Given the description of an element on the screen output the (x, y) to click on. 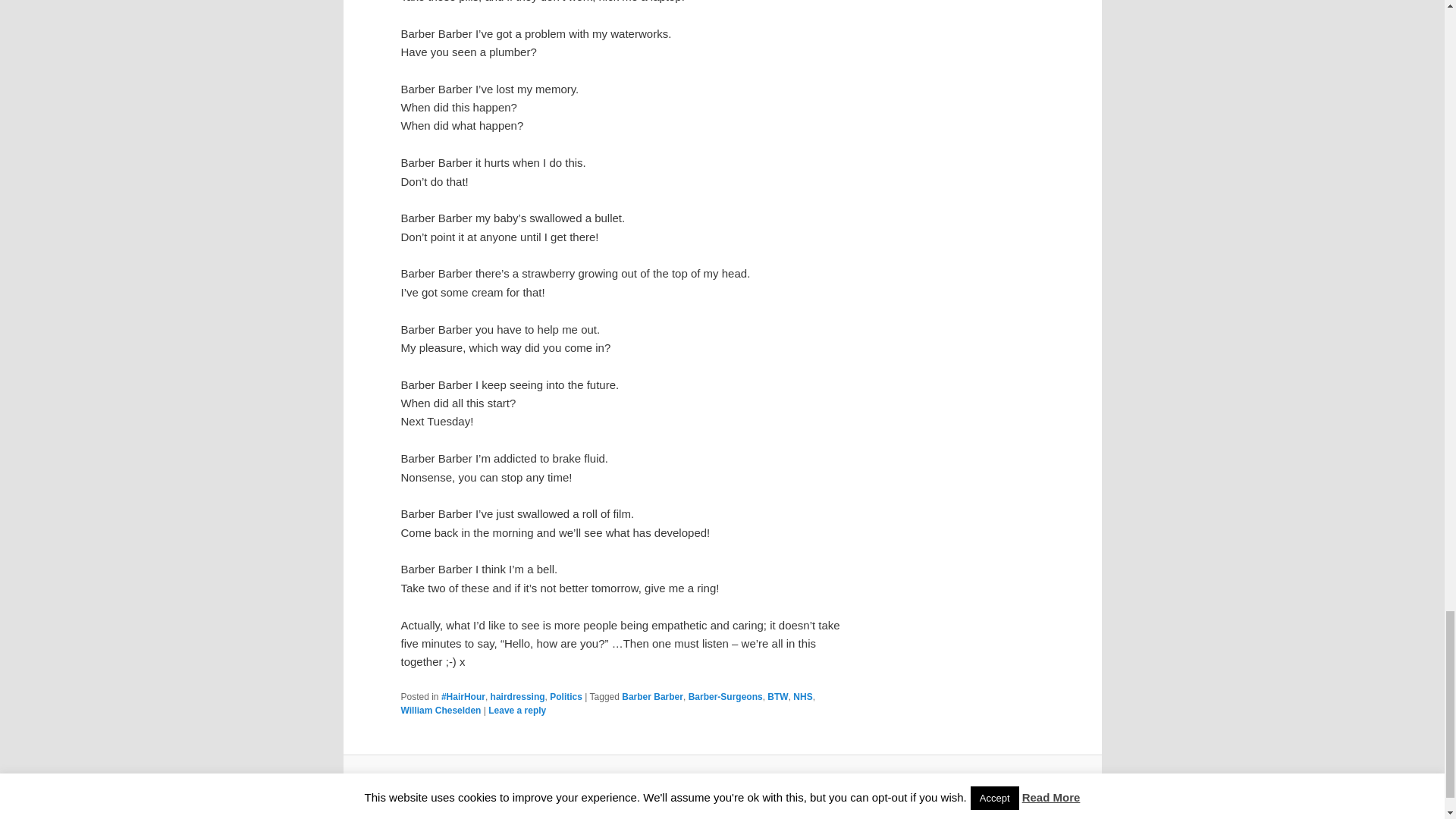
Barber-Surgeons (725, 696)
William Cheselden (440, 710)
hairdressing (517, 696)
BTW (777, 696)
Semantic Personal Publishing Platform (721, 784)
Barber Barber (651, 696)
Politics (566, 696)
Leave a reply (516, 710)
NHS (802, 696)
